Given the description of an element on the screen output the (x, y) to click on. 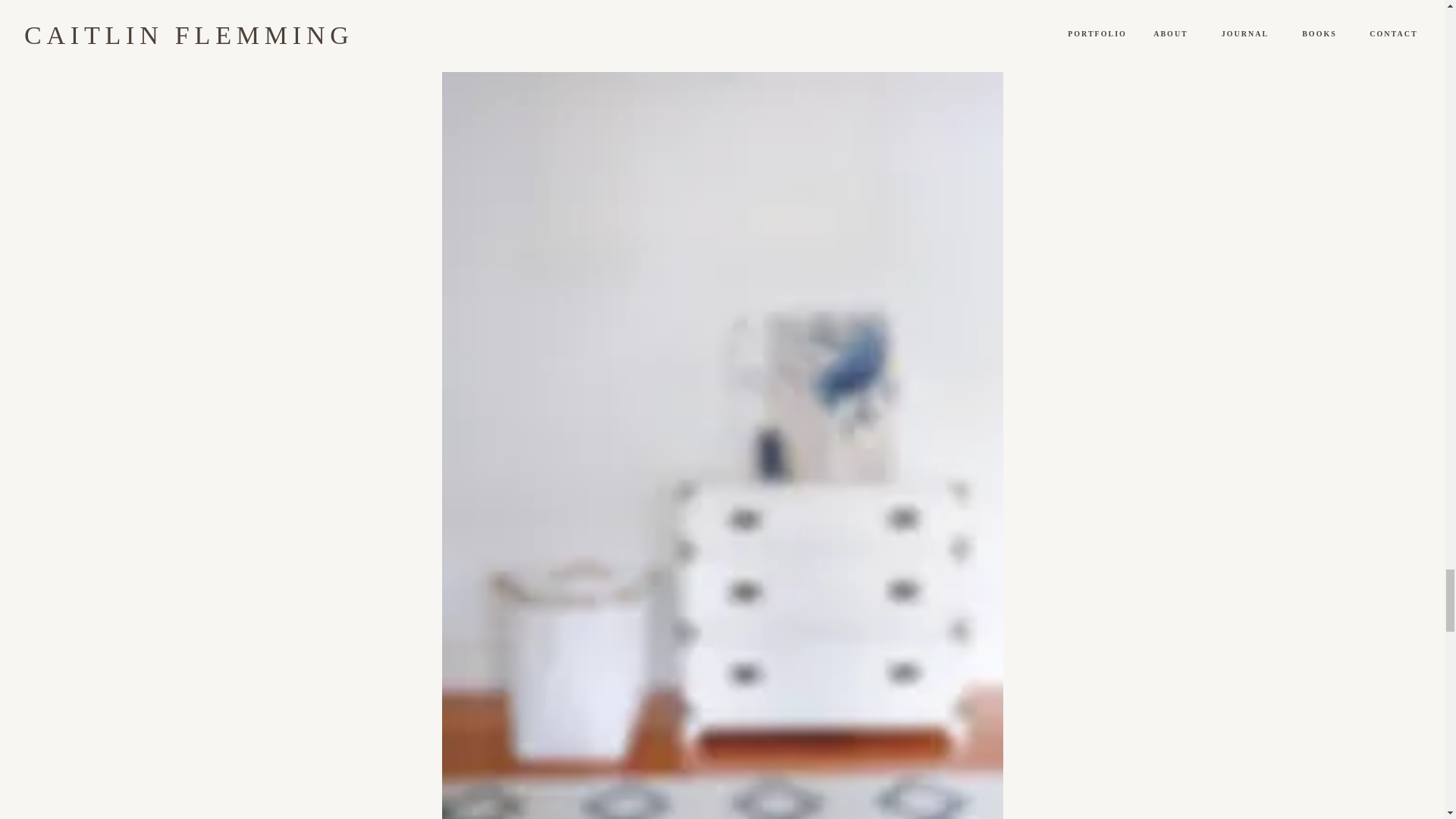
Hayneedle (851, 11)
